Given the description of an element on the screen output the (x, y) to click on. 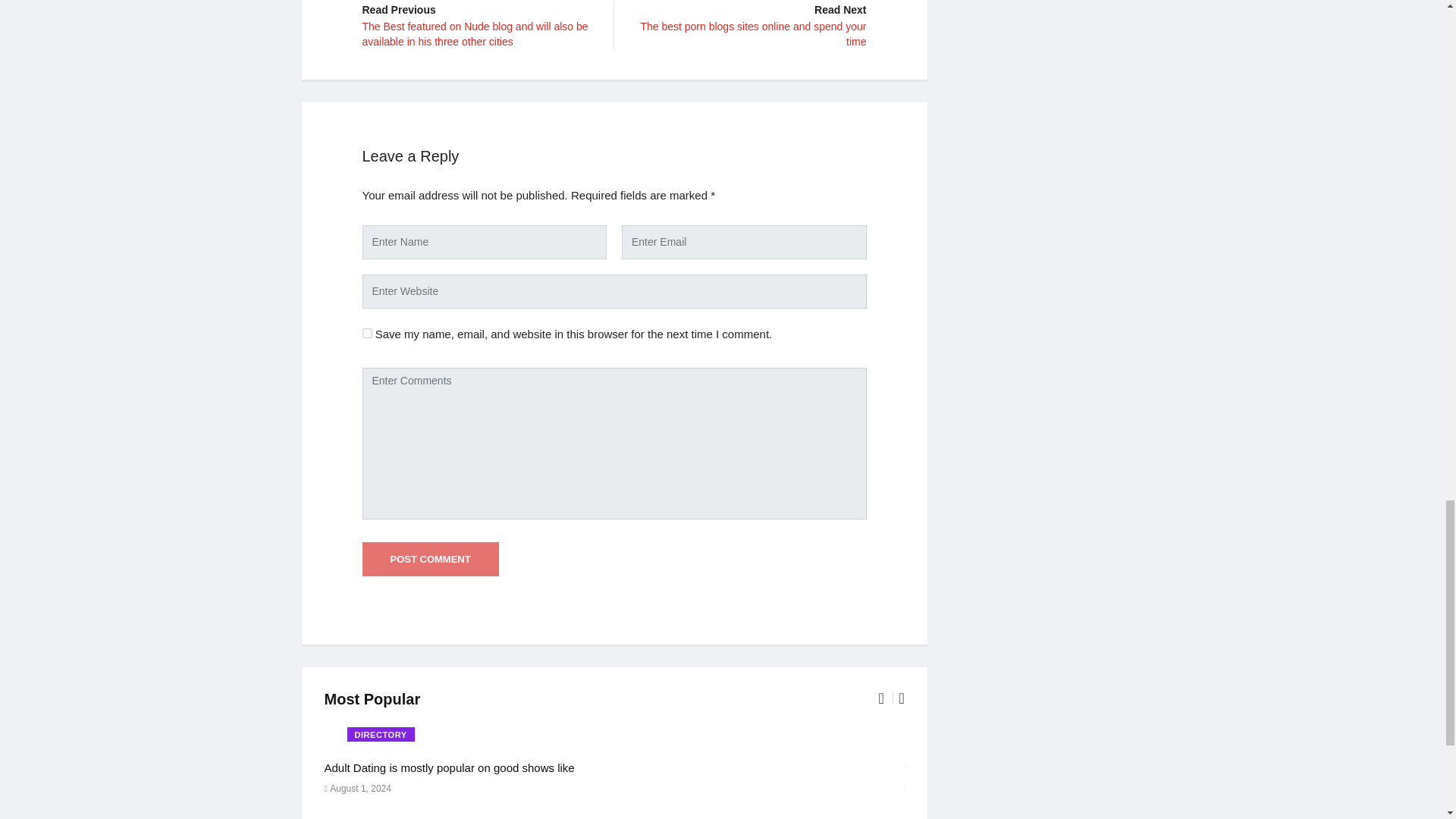
Post Comment (430, 559)
yes (367, 333)
